Given the description of an element on the screen output the (x, y) to click on. 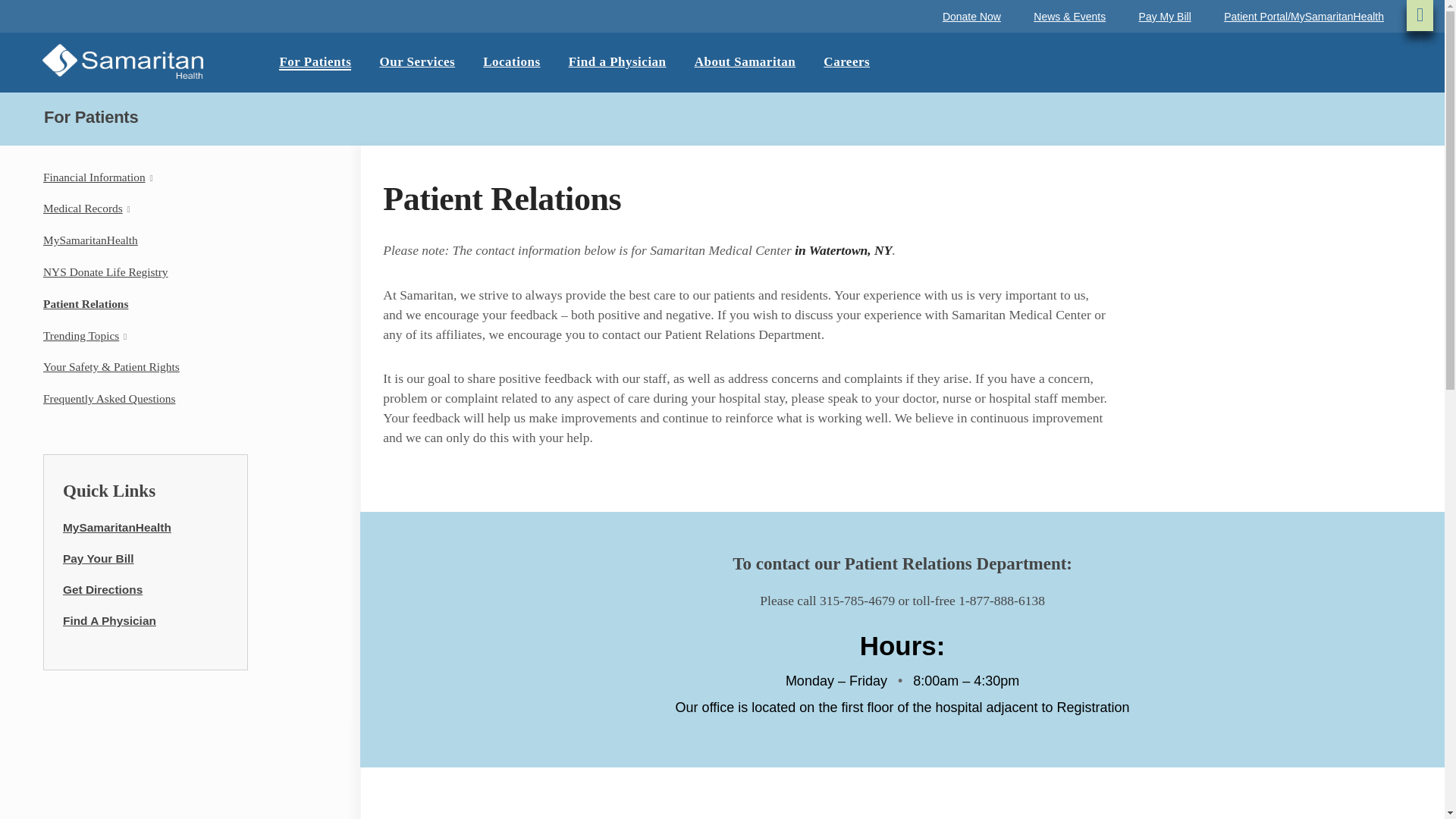
For Patients (314, 62)
Donate Now (971, 16)
Pay My Bill (1164, 16)
Our Services (416, 62)
